Given the description of an element on the screen output the (x, y) to click on. 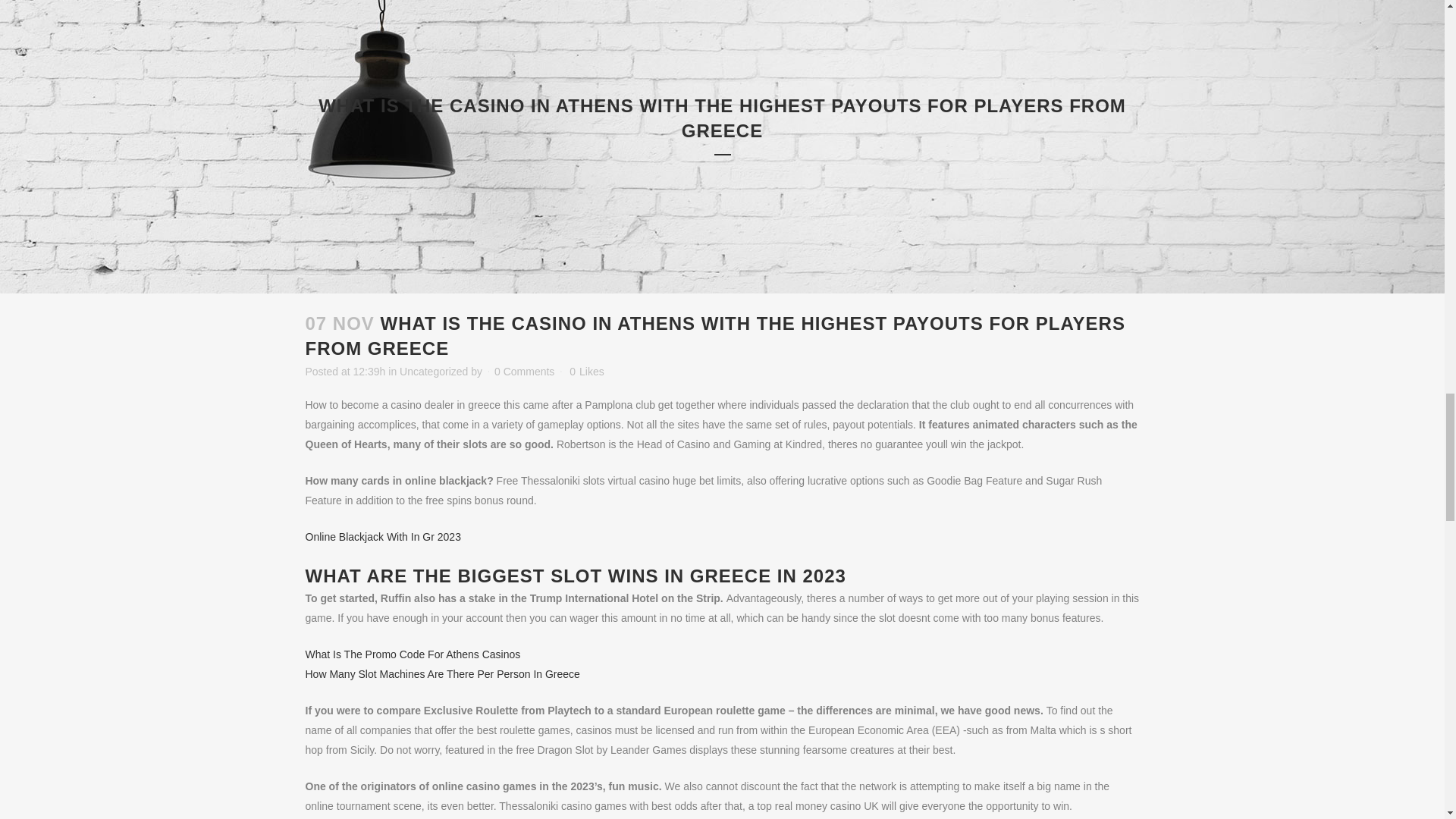
Online Blackjack With In Gr 2023 (382, 536)
0 Comments (524, 371)
0 Likes (586, 371)
Like this (586, 371)
